Given the description of an element on the screen output the (x, y) to click on. 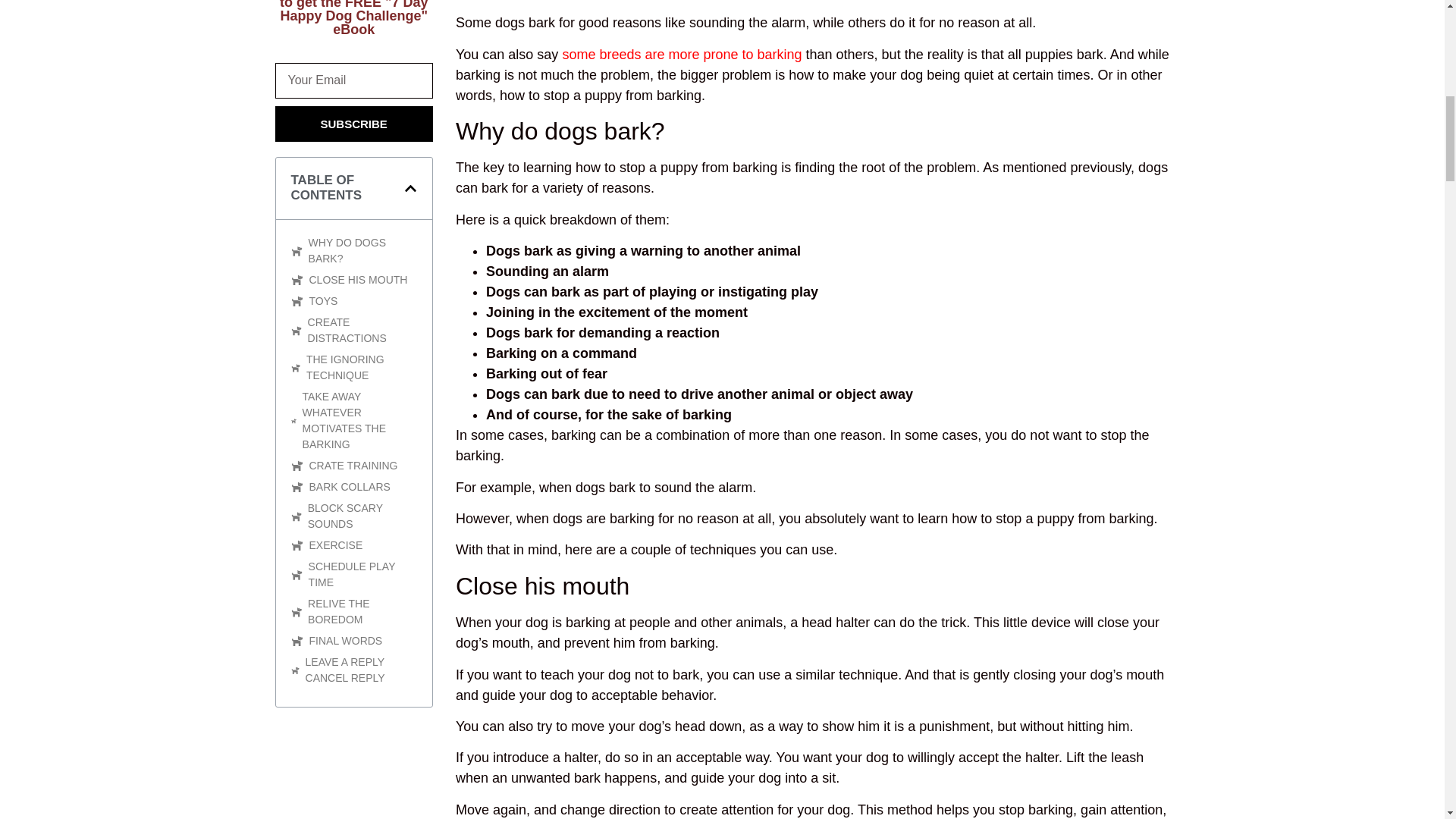
BLOCK SCARY SOUNDS (361, 516)
some breeds are more prone to barking (682, 54)
CREATE DISTRACTIONS (361, 330)
RELIVE THE BOREDOM (361, 612)
FINAL WORDS (345, 641)
BARK COLLARS (349, 487)
TOYS (322, 301)
LEAVE A REPLY CANCEL REPLY (360, 670)
SCHEDULE PLAY TIME (362, 574)
THE IGNORING TECHNIQUE (360, 368)
CRATE TRAINING (352, 465)
TAKE AWAY WHATEVER MOTIVATES THE BARKING (359, 420)
EXERCISE (335, 545)
CLOSE HIS MOUTH (357, 279)
WHY DO DOGS BARK? (362, 250)
